Given the description of an element on the screen output the (x, y) to click on. 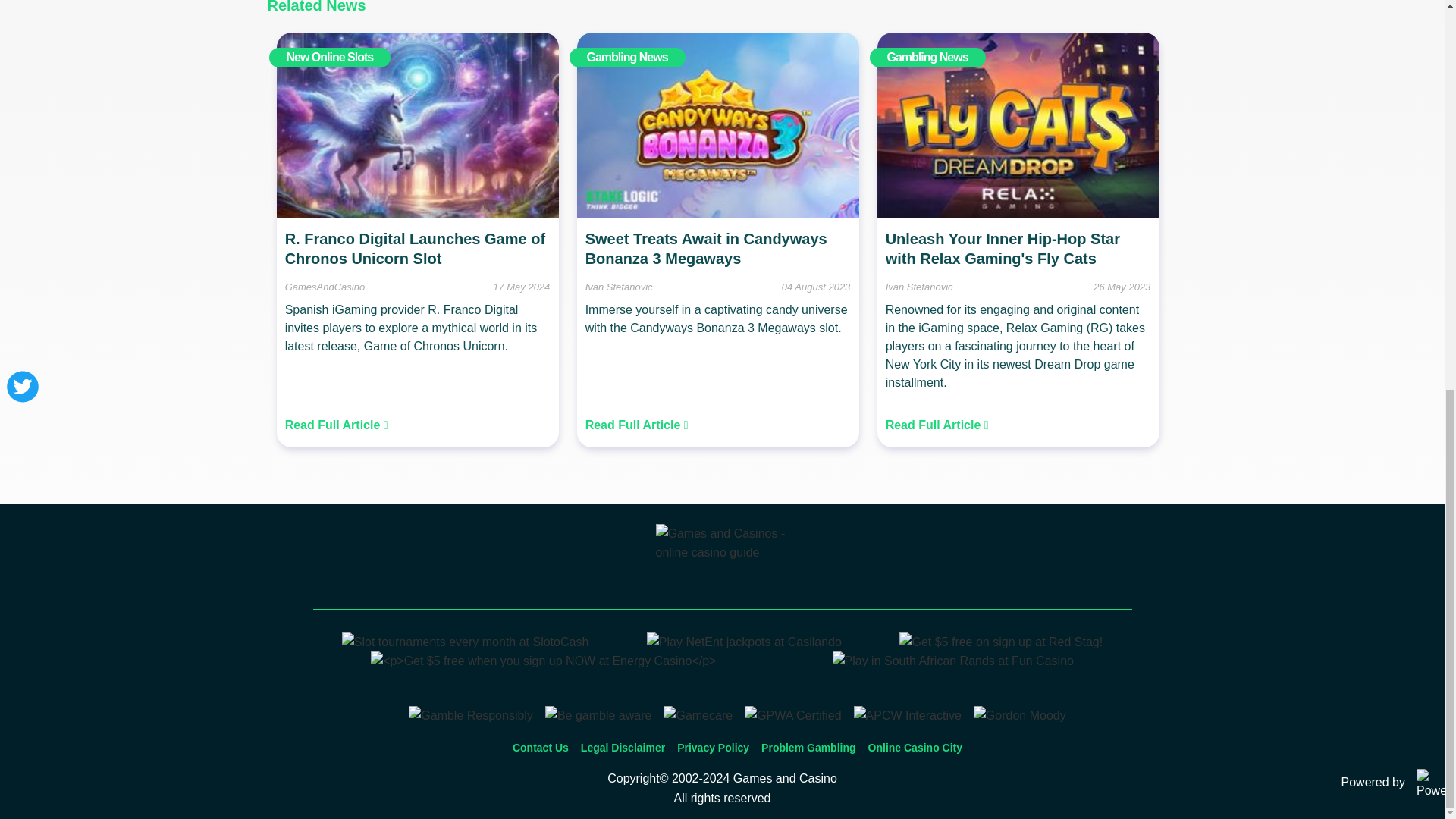
Casilando (743, 641)
Fun Casino (953, 660)
Games and Casinos - online casino guide (722, 561)
EnergyCasino (543, 660)
Red Stag Casino (1000, 641)
Sloto'Cash Casino (465, 641)
